Given the description of an element on the screen output the (x, y) to click on. 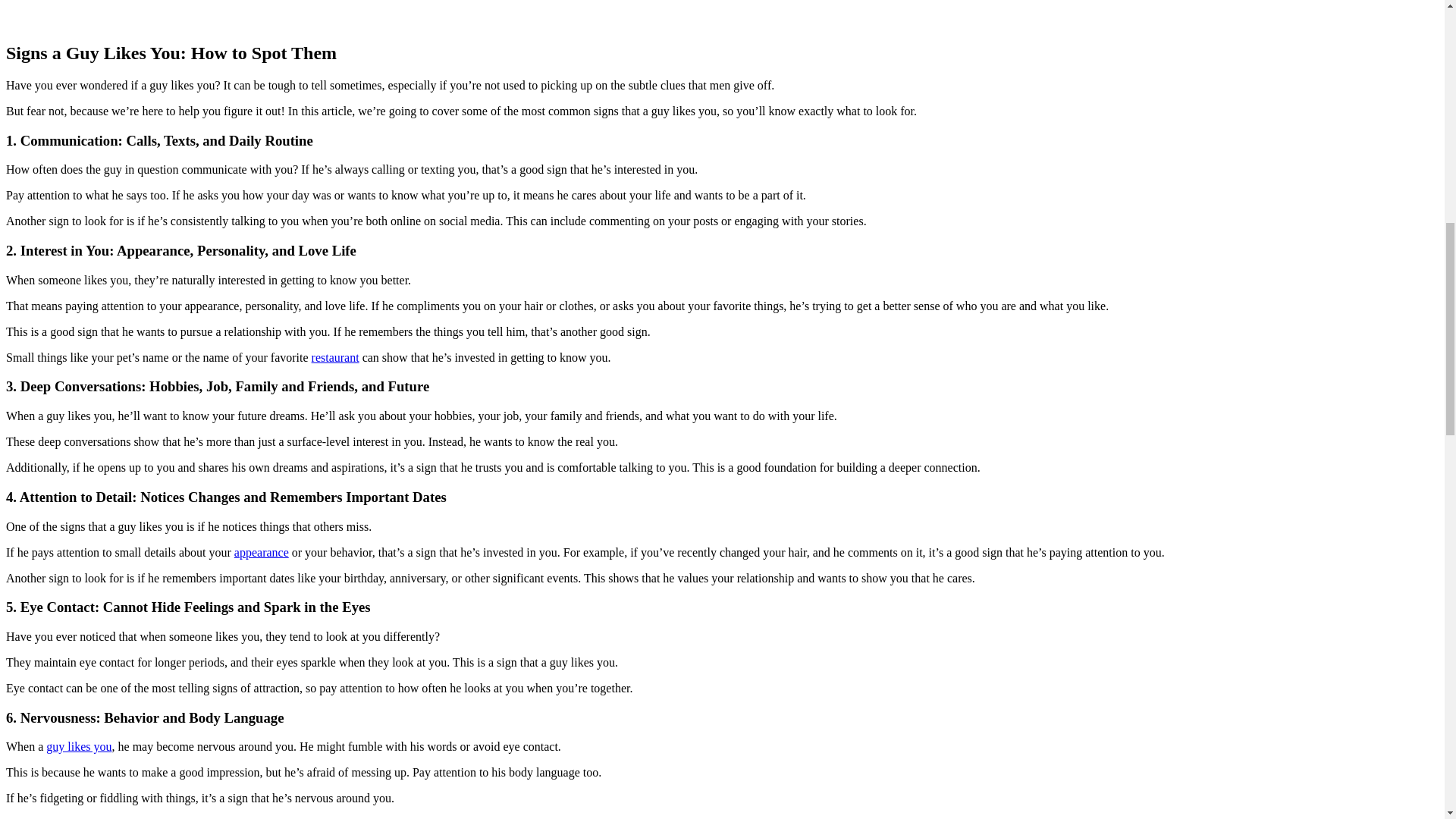
appearance (261, 552)
restaurant (335, 357)
guy likes you (79, 746)
